Given the description of an element on the screen output the (x, y) to click on. 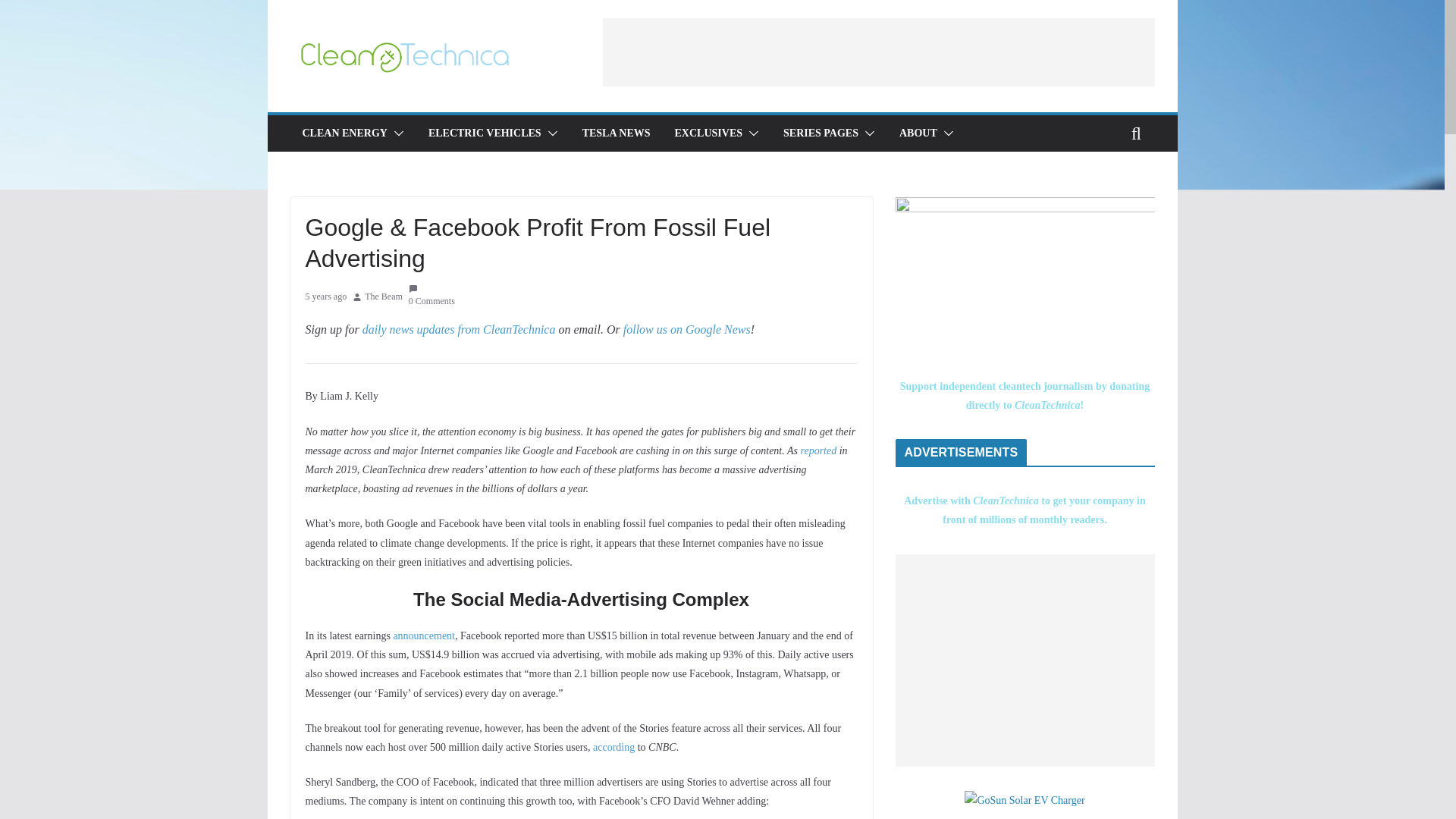
ELECTRIC VEHICLES (484, 133)
Advertisement (1025, 660)
SERIES PAGES (821, 133)
Advertisement (878, 52)
TESLA NEWS (616, 133)
CLEAN ENERGY (344, 133)
The Beam (384, 297)
EXCLUSIVES (708, 133)
